Given the description of an element on the screen output the (x, y) to click on. 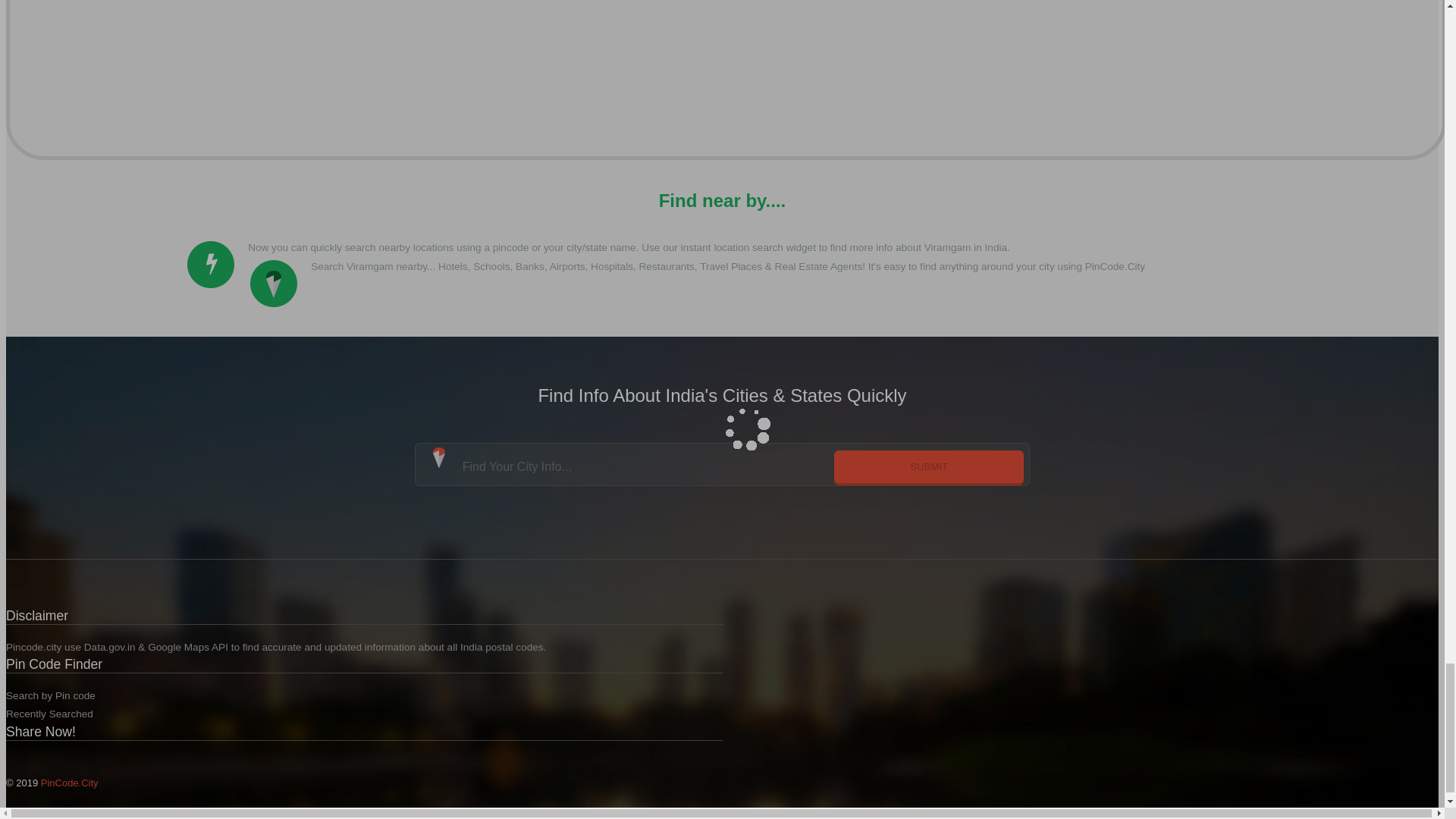
submit (928, 466)
